Given the description of an element on the screen output the (x, y) to click on. 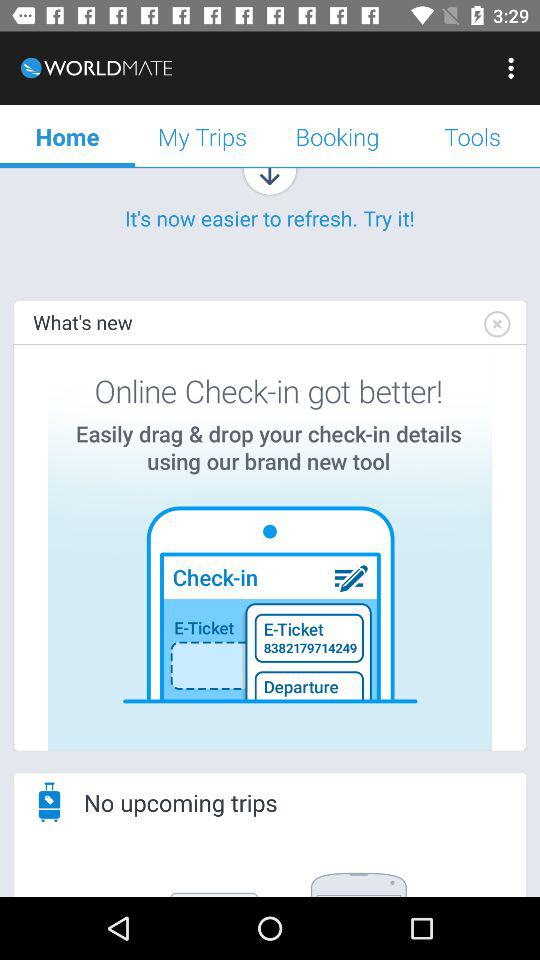
jump until tools icon (472, 136)
